Given the description of an element on the screen output the (x, y) to click on. 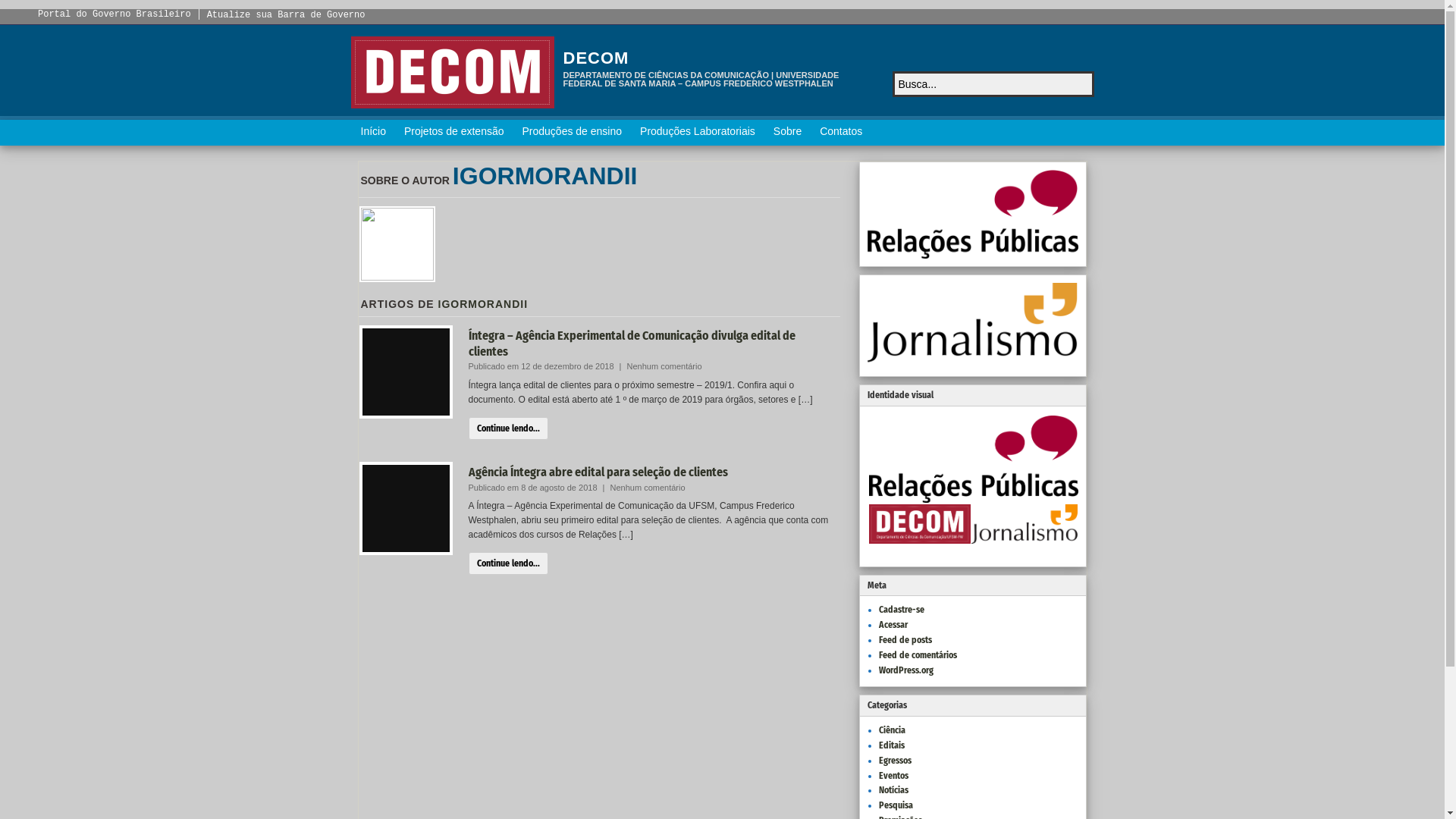
Busca DECOM Element type: hover (1081, 84)
Acessar Element type: text (892, 624)
WordPress.org Element type: text (905, 670)
JORNALISMO Element type: hover (1023, 523)
Atualize sua Barra de Governo Element type: text (286, 14)
IGORMORANDII Element type: text (544, 175)
Feed de posts Element type: text (904, 639)
IGORMORANDII Element type: text (483, 304)
Feed RSS Element type: text (1079, 131)
Universidade Federal de Santa Maria Element type: hover (451, 72)
Egressos Element type: text (894, 760)
Cadastre-se Element type: text (900, 609)
Continue lendo... Element type: text (508, 563)
Busca Element type: text (1081, 84)
DECOM Element type: text (595, 57)
MARCA_RP Element type: hover (973, 458)
Pesquisa Element type: text (895, 805)
Eventos Element type: text (892, 775)
Sobre Element type: text (787, 132)
Contatos Element type: text (840, 132)
Continue lendo... Element type: text (508, 428)
Portal do Governo Brasileiro Element type: text (114, 14)
Editais Element type: text (890, 745)
